Given the description of an element on the screen output the (x, y) to click on. 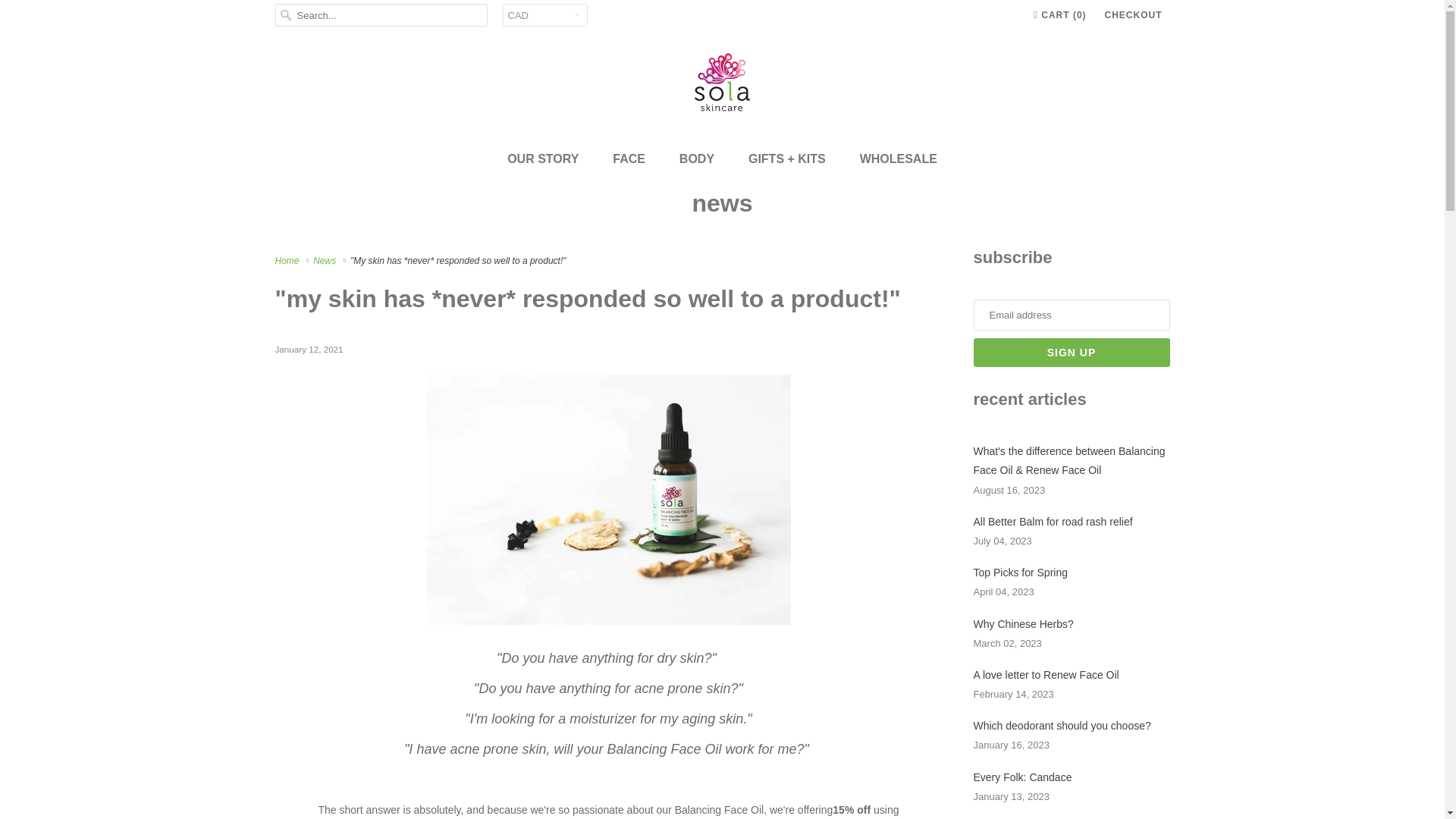
Home (288, 260)
News (326, 260)
Sign Up (1072, 352)
CHECKOUT (1132, 15)
A love letter to Renew Face Oil (1046, 674)
Which deodorant should you choose? (1062, 725)
A love letter to Renew Face Oil (1046, 674)
FACE (628, 158)
BODY (696, 158)
Top Picks for Spring (1021, 572)
